Given the description of an element on the screen output the (x, y) to click on. 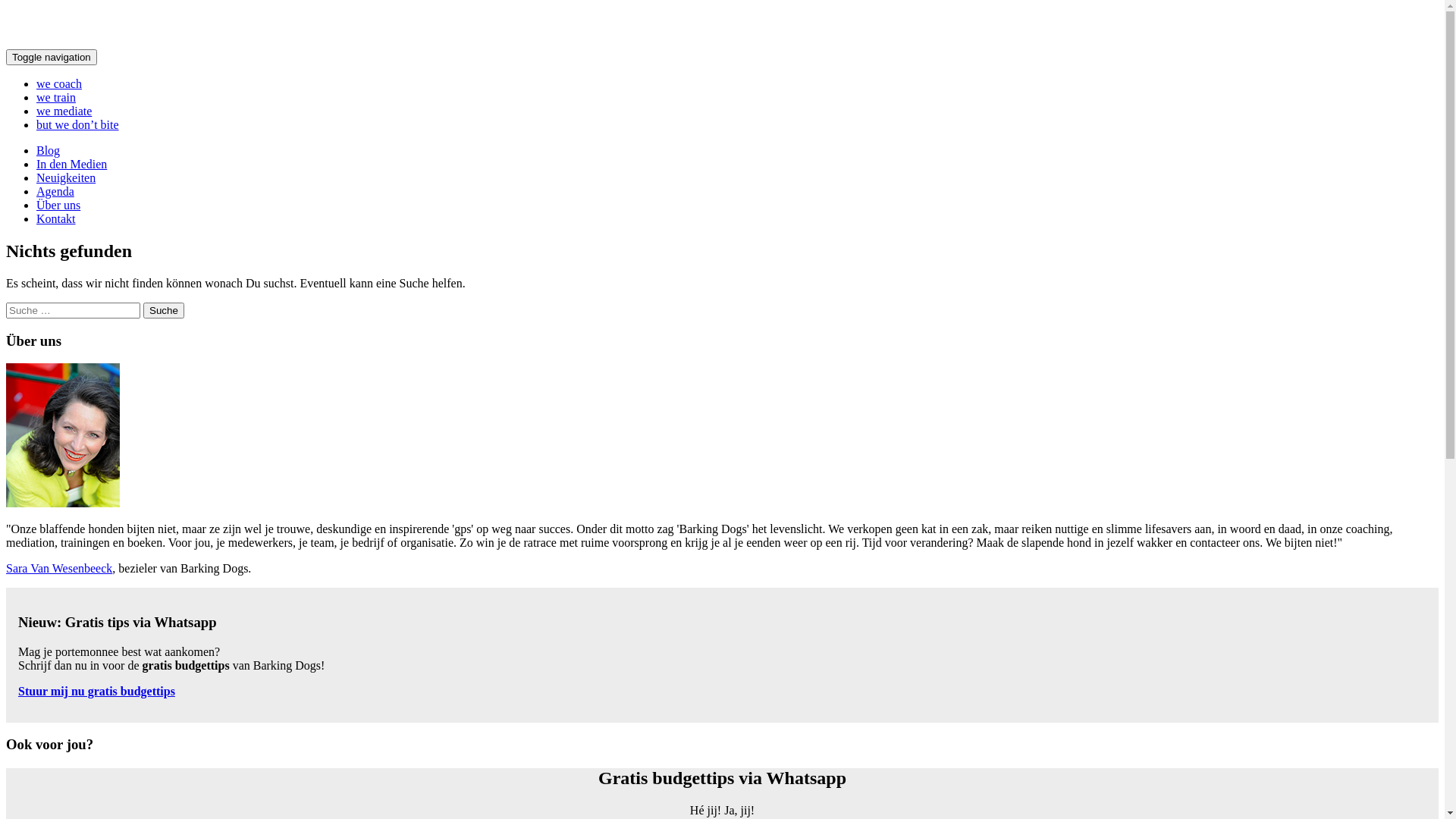
we coach Element type: text (58, 83)
Agenda Element type: text (55, 191)
In den Medien Element type: text (71, 163)
Stuur mij nu gratis budgettips Element type: text (96, 690)
Blog Element type: text (47, 150)
Kontakt Element type: text (55, 218)
we train Element type: text (55, 97)
Neuigkeiten Element type: text (65, 177)
Suche Element type: text (163, 310)
Toggle navigation Element type: text (51, 57)
we mediate Element type: text (63, 110)
Sara Van Wesenbeeck Element type: text (59, 567)
